Given the description of an element on the screen output the (x, y) to click on. 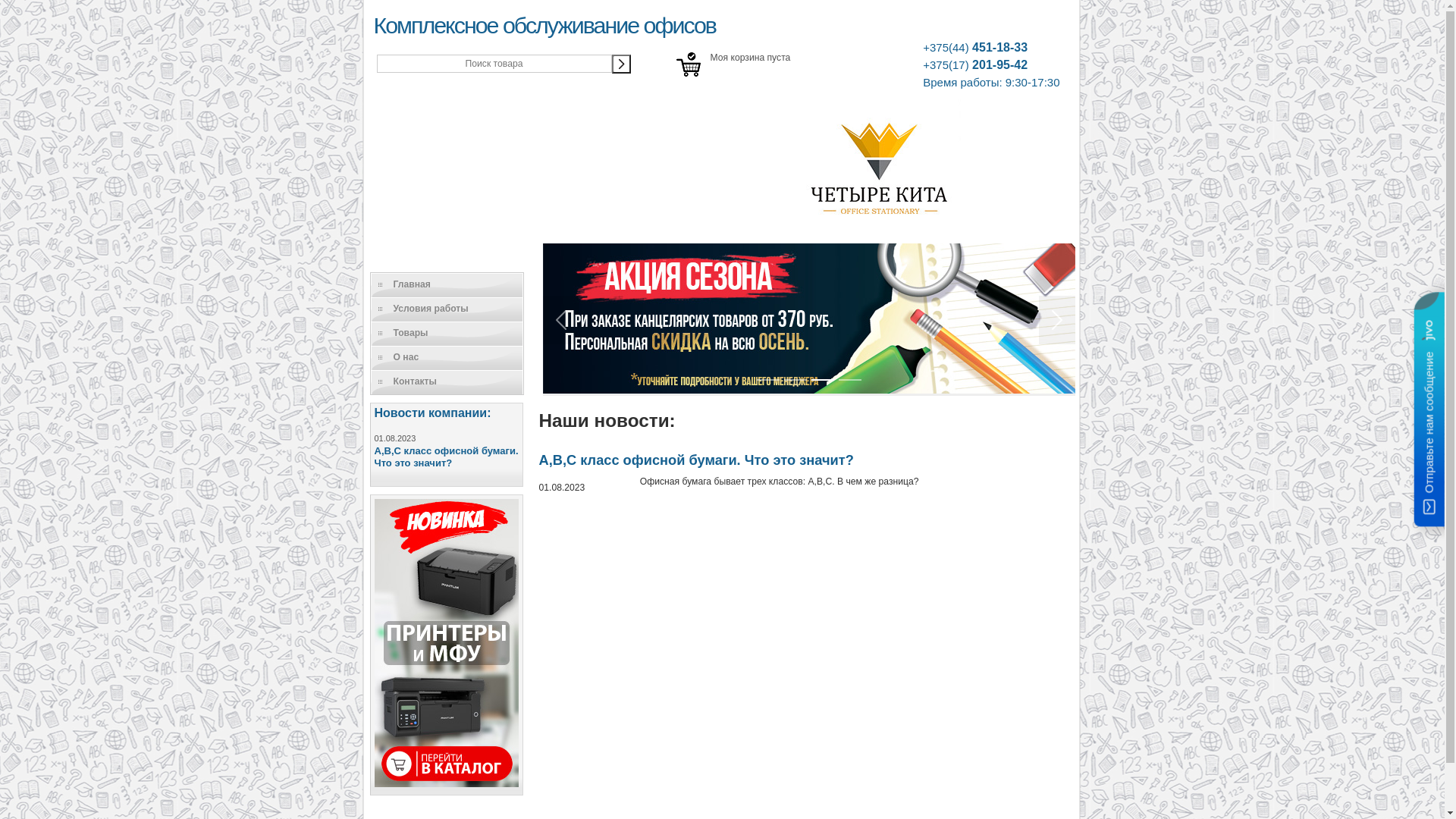
+375(44) 451-18-33 Element type: text (990, 47)
+375(17) 201-95-42 Element type: text (990, 65)
